Given the description of an element on the screen output the (x, y) to click on. 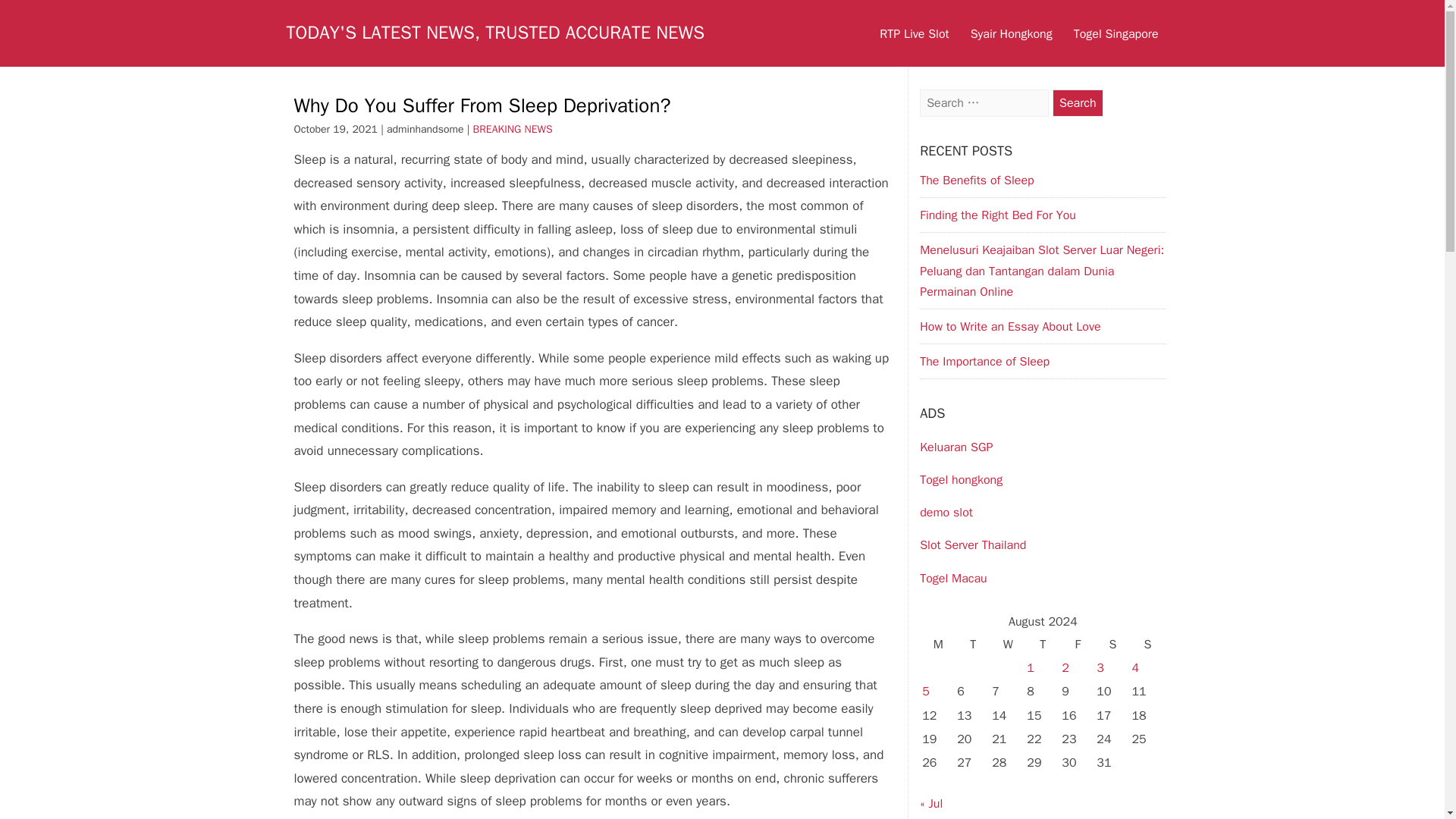
Keluaran SGP (956, 447)
Search (1077, 103)
Friday (1077, 644)
Togel Singapore (1115, 33)
Togel hongkong (961, 479)
RTP Live Slot (914, 33)
Syair Hongkong (1010, 33)
Saturday (1112, 644)
Tuesday (973, 644)
Togel Macau (953, 578)
BREAKING NEWS (513, 128)
TODAY'S LATEST NEWS, TRUSTED ACCURATE NEWS (495, 32)
How to Write an Essay About Love (1010, 326)
Finding the Right Bed For You (997, 215)
Search (1077, 103)
